Given the description of an element on the screen output the (x, y) to click on. 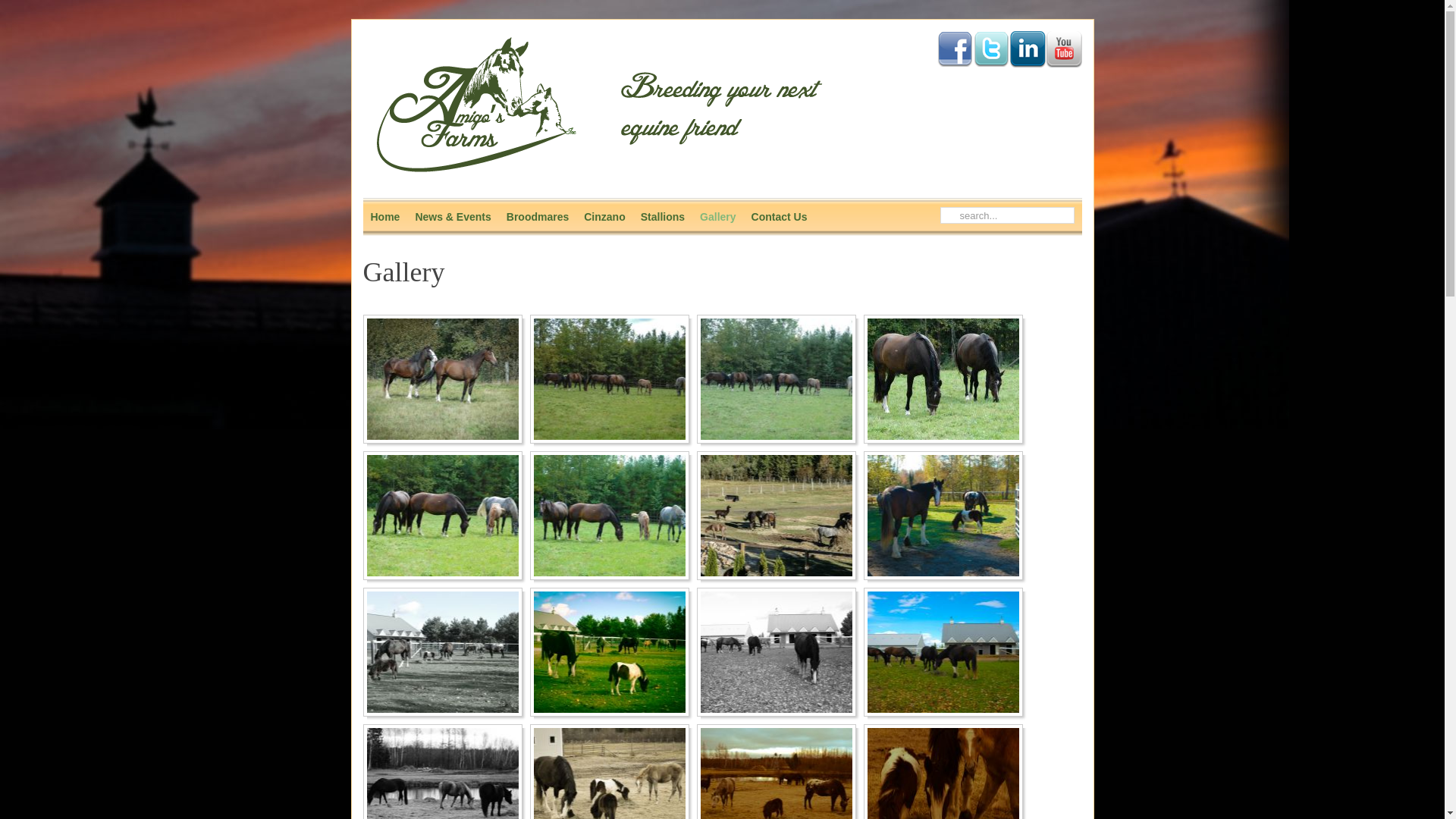
JW_SIG_NAVTIP <b>Gallery</b><br /><br /> Element type: hover (943, 651)
Home Element type: text (384, 216)
JW_SIG_NAVTIP <b>Gallery</b><br /><br /> Element type: hover (442, 515)
Gallery Element type: text (717, 216)
JW_SIG_NAVTIP <b>Gallery</b><br /><br /> Element type: hover (943, 515)
Cinzano Element type: text (604, 216)
JW_SIG_NAVTIP <b>Gallery</b><br /><br /> Element type: hover (609, 651)
JW_SIG_NAVTIP <b>Gallery</b><br /><br /> Element type: hover (776, 651)
JW_SIG_NAVTIP <b>Gallery</b><br /><br /> Element type: hover (609, 378)
Broodmares Element type: text (537, 216)
Contact Us Element type: text (779, 216)
Reset Element type: text (3, 3)
Facebook Element type: hover (953, 49)
LinkedIn Element type: hover (1026, 49)
JW_SIG_NAVTIP <b>Gallery</b><br /><br /> Element type: hover (442, 378)
Stallions Element type: text (662, 216)
JW_SIG_NAVTIP <b>Gallery</b><br /><br /> Element type: hover (776, 515)
JW_SIG_NAVTIP <b>Gallery</b><br /><br /> Element type: hover (776, 378)
JW_SIG_NAVTIP <b>Gallery</b><br /><br /> Element type: hover (943, 378)
News & Events Element type: text (452, 216)
JW_SIG_NAVTIP <b>Gallery</b><br /><br /> Element type: hover (609, 515)
JW_SIG_NAVTIP <b>Gallery</b><br /><br /> Element type: hover (442, 651)
Twitter Element type: hover (990, 49)
